Given the description of an element on the screen output the (x, y) to click on. 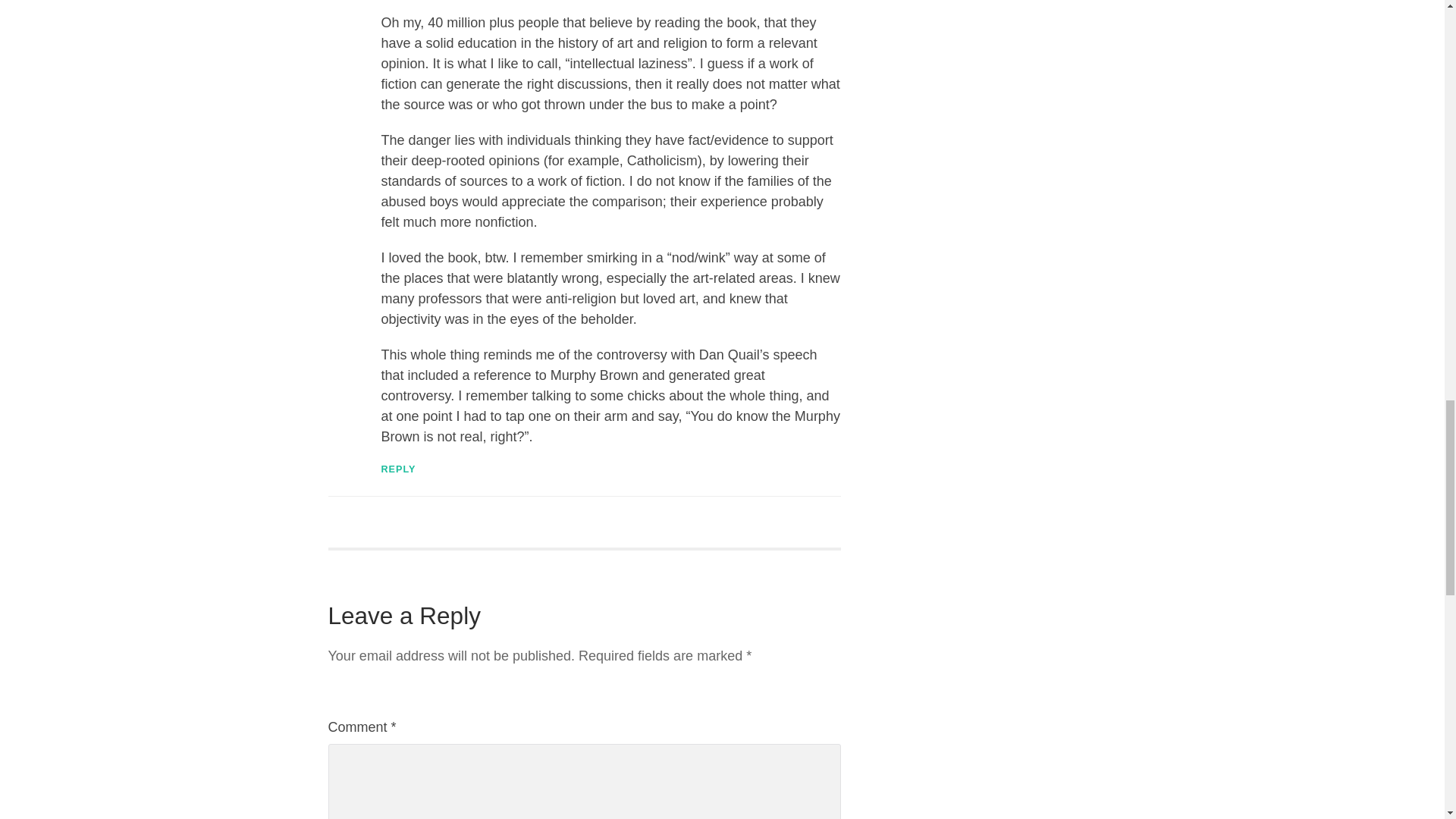
REPLY (397, 469)
